Given the description of an element on the screen output the (x, y) to click on. 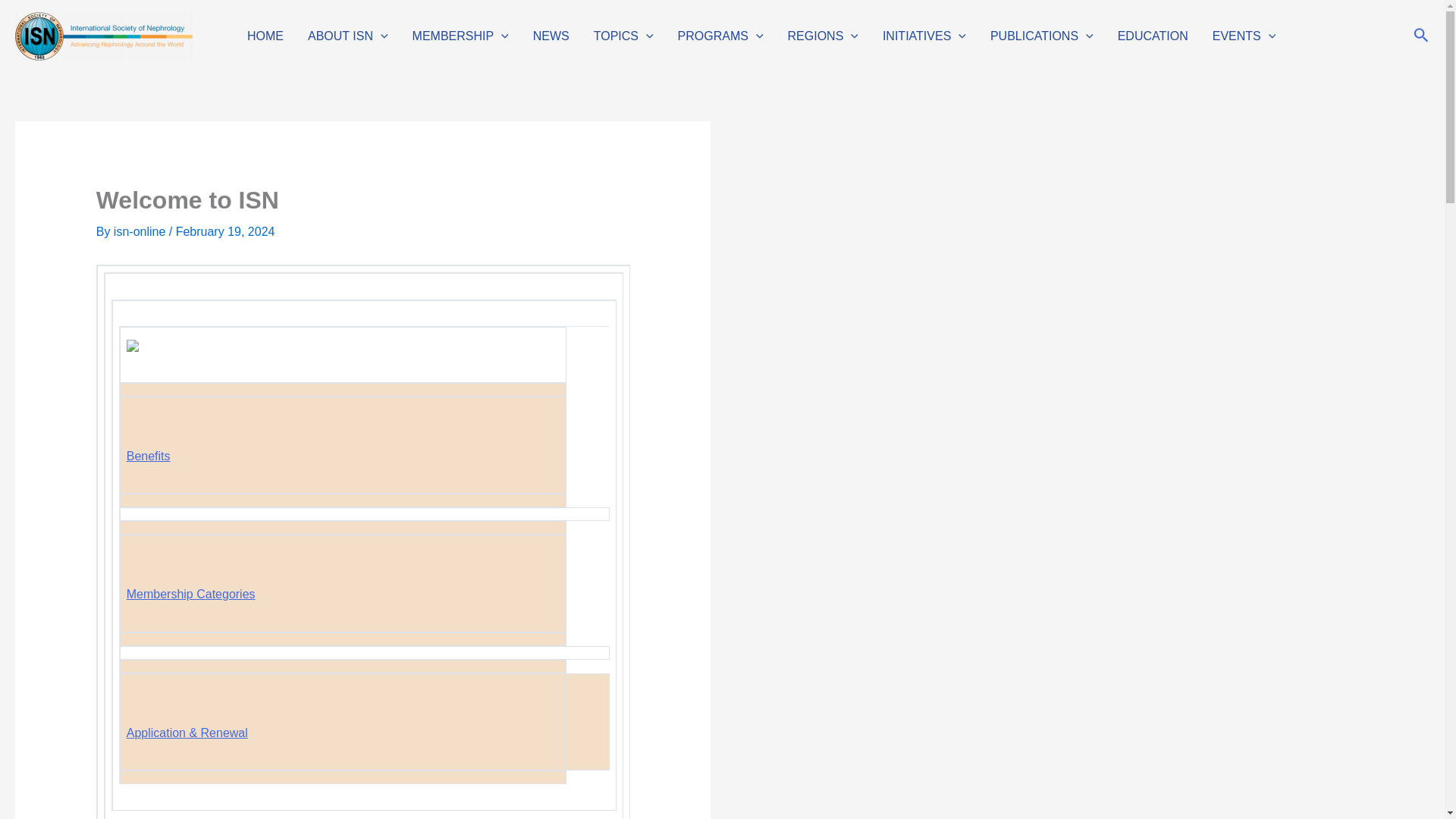
HOME (264, 36)
View all posts by isn-online (140, 231)
ABOUT ISN (347, 36)
